Given the description of an element on the screen output the (x, y) to click on. 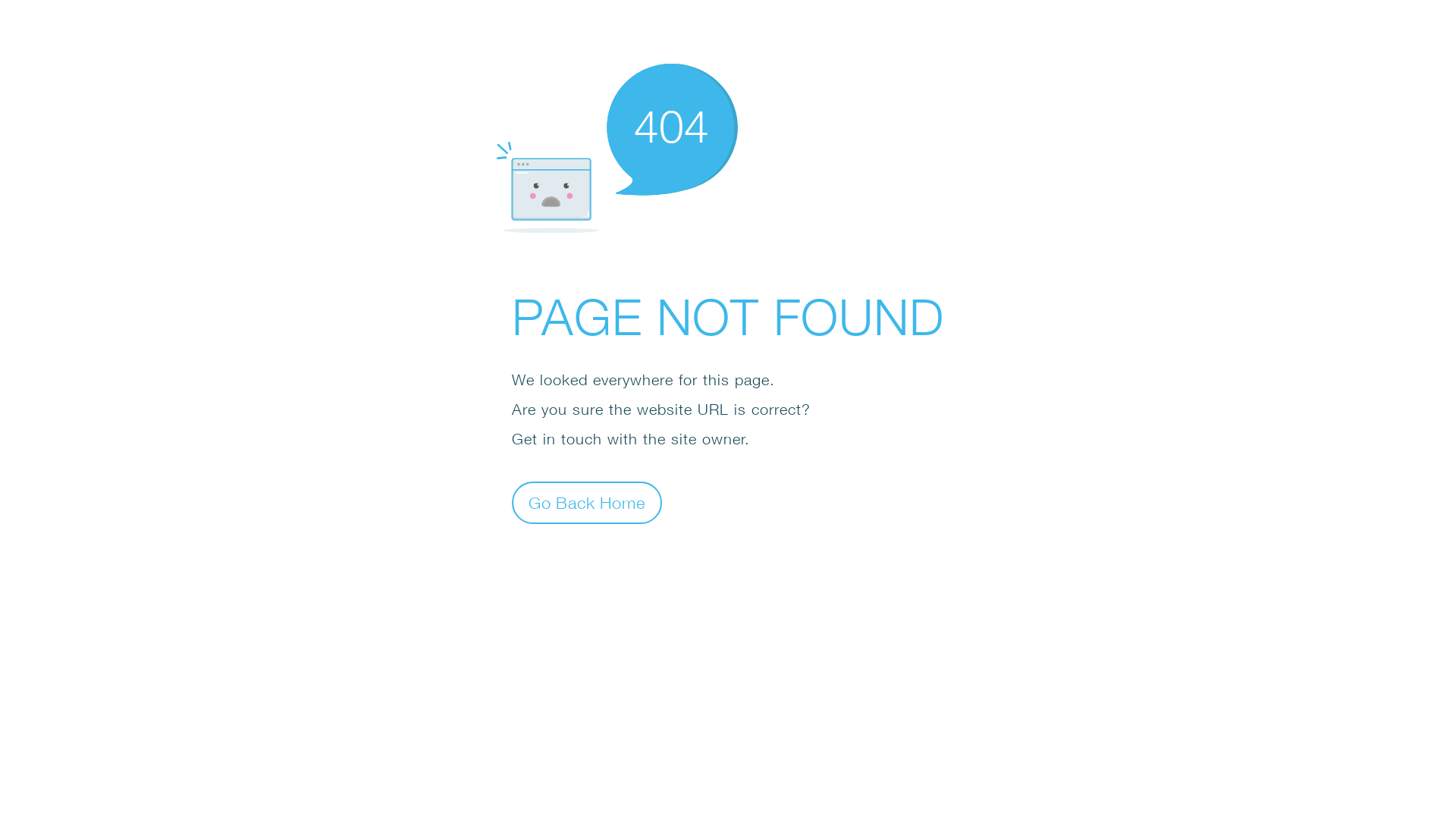
Go Back Home Element type: text (586, 502)
